Given the description of an element on the screen output the (x, y) to click on. 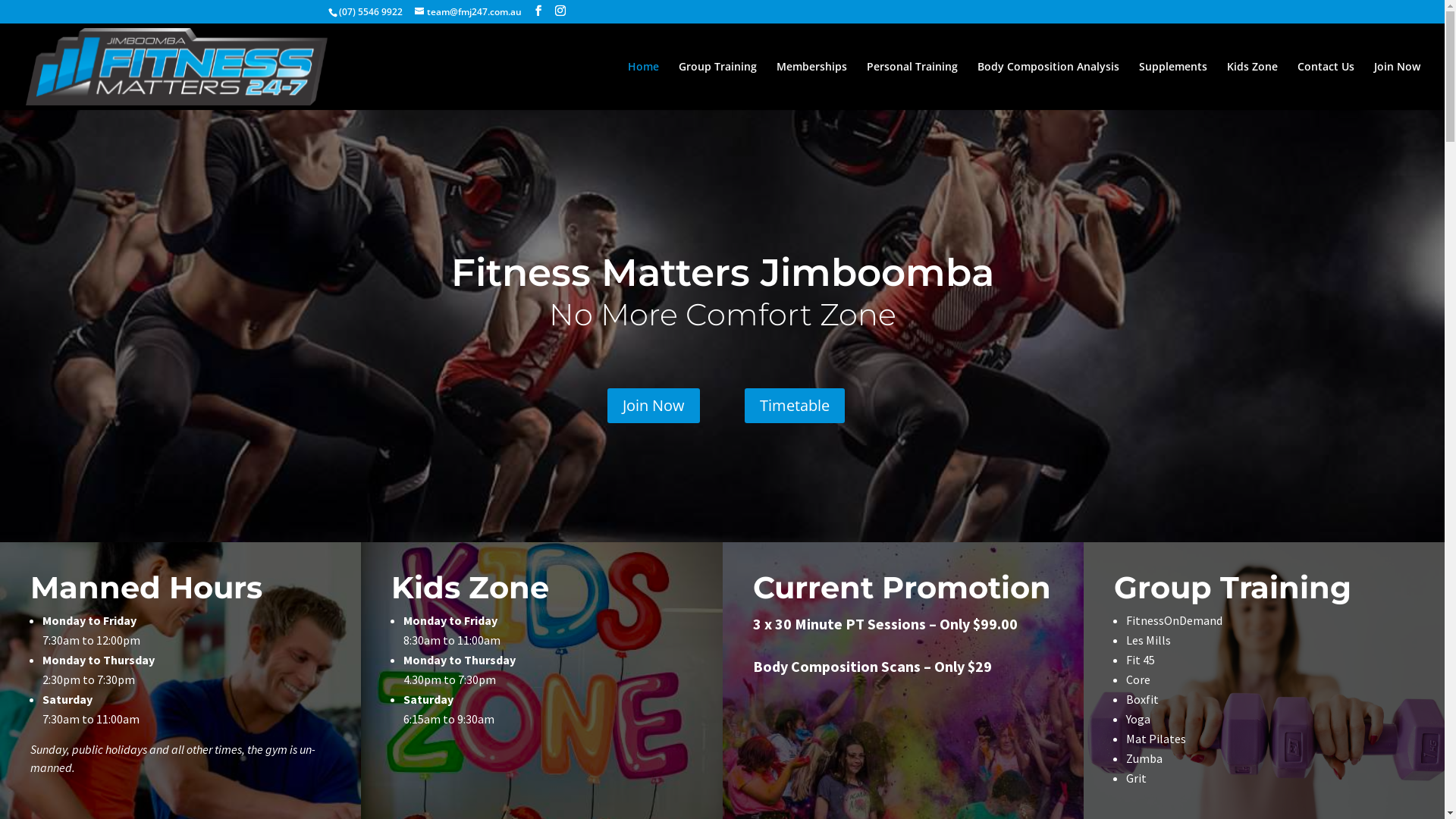
Group Training Element type: text (717, 85)
Contact Us Element type: text (1325, 85)
Body Composition Analysis Element type: text (1048, 85)
Kids Zone Element type: text (1251, 85)
Memberships Element type: text (811, 85)
Supplements Element type: text (1173, 85)
Join Now Element type: text (1397, 85)
Join Now Element type: text (653, 405)
Personal Training Element type: text (911, 85)
Home Element type: text (642, 85)
Timetable Element type: text (794, 405)
team@fmj247.com.au Element type: text (467, 11)
